Given the description of an element on the screen output the (x, y) to click on. 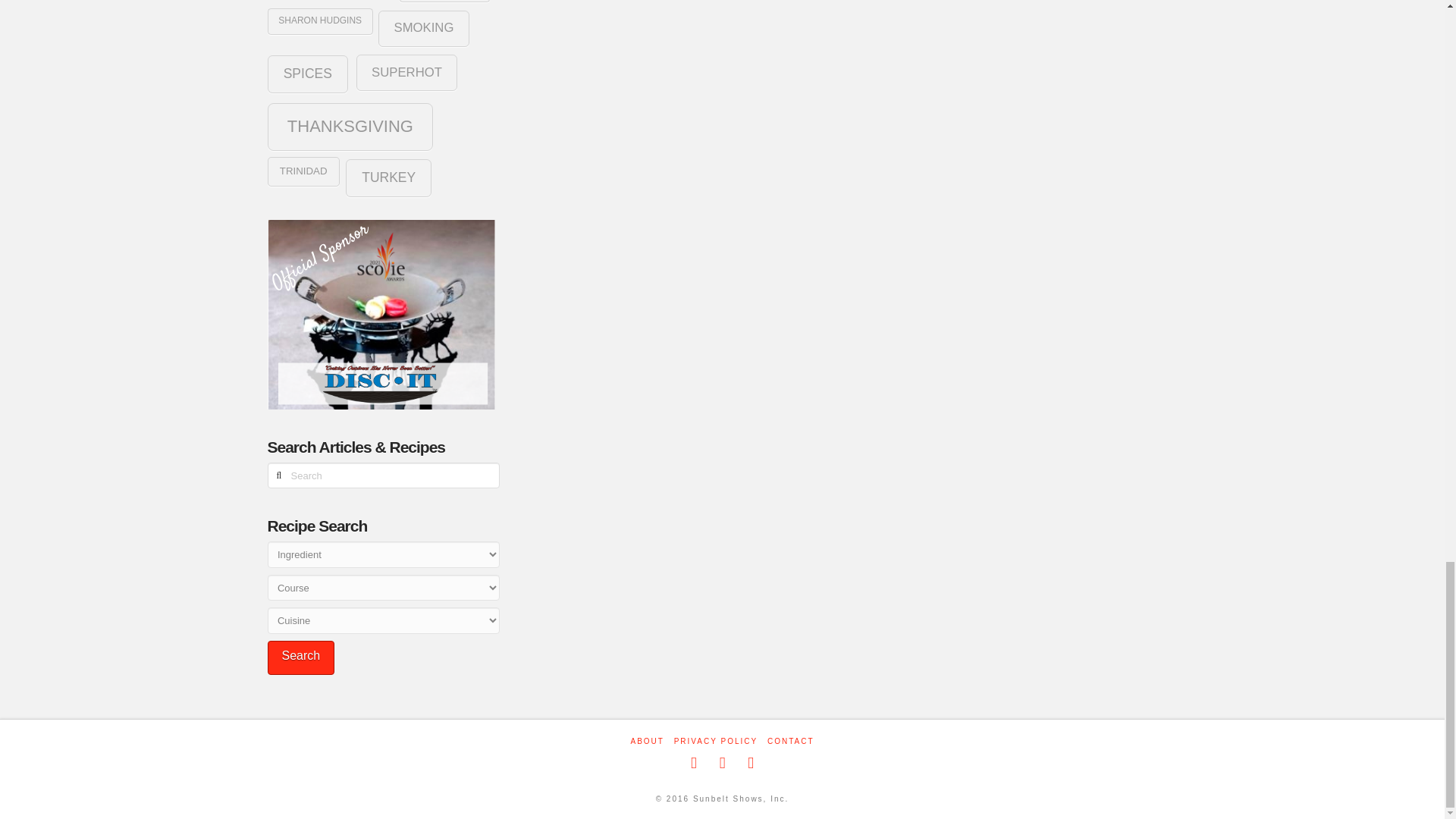
Contact (790, 740)
Privacy Policy (715, 740)
Facebook (693, 763)
About (646, 740)
Search (300, 657)
